Given the description of an element on the screen output the (x, y) to click on. 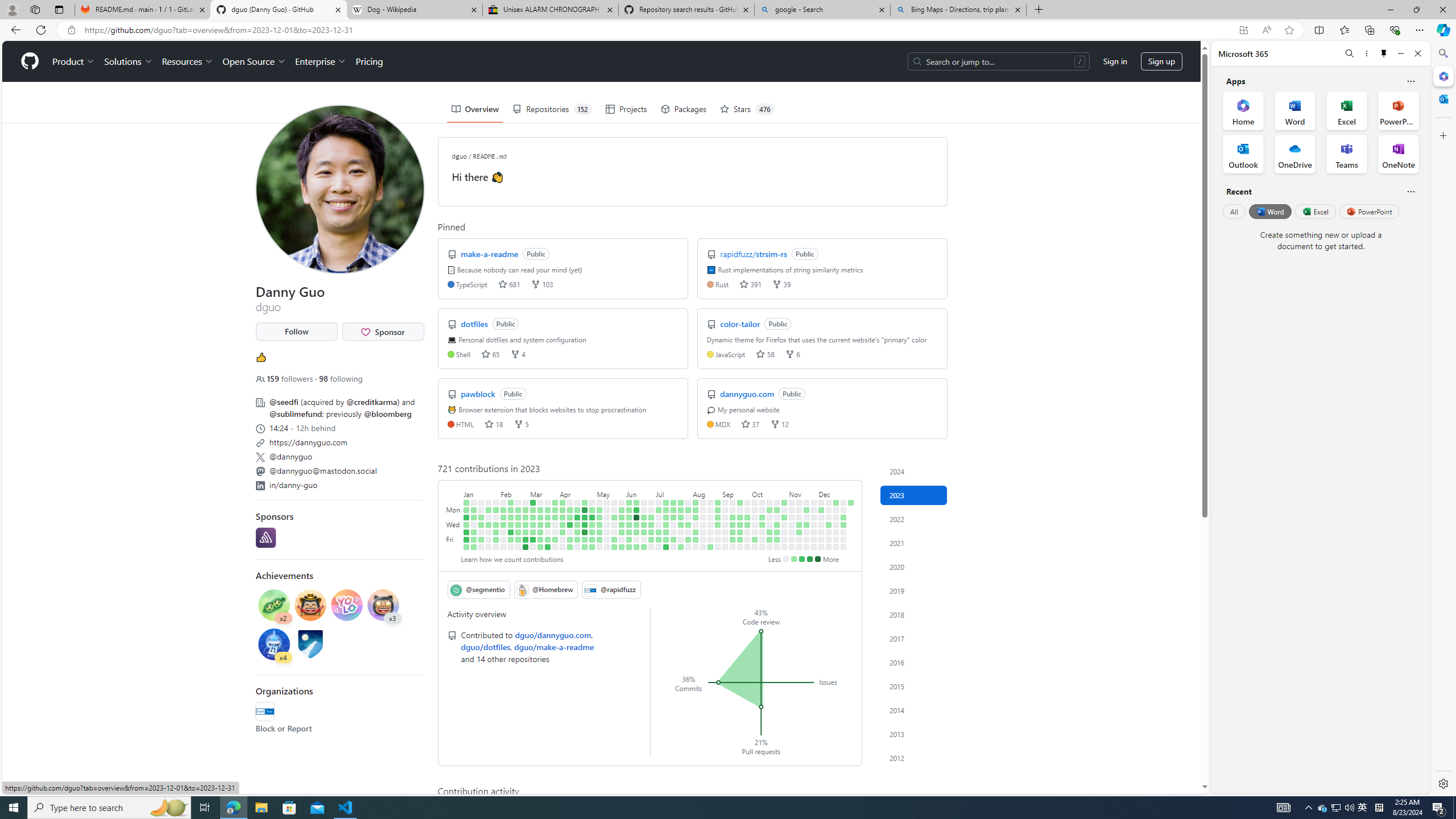
2018 (913, 614)
Achievement: Pair Extraordinaire (273, 605)
2017 (913, 638)
1 contribution on May 27th. (614, 546)
Projects (625, 108)
make-a-readme (490, 253)
No contributions on November 30th. (813, 531)
2 contributions on May 30th. (621, 517)
No contributions on November 25th. (806, 546)
2 contributions on July 17th. (674, 509)
3 contributions on June 8th. (628, 531)
Sponsor @dguo (382, 331)
No contributions on April 16th. (577, 502)
No contributions on October 13th. (761, 539)
